Given the description of an element on the screen output the (x, y) to click on. 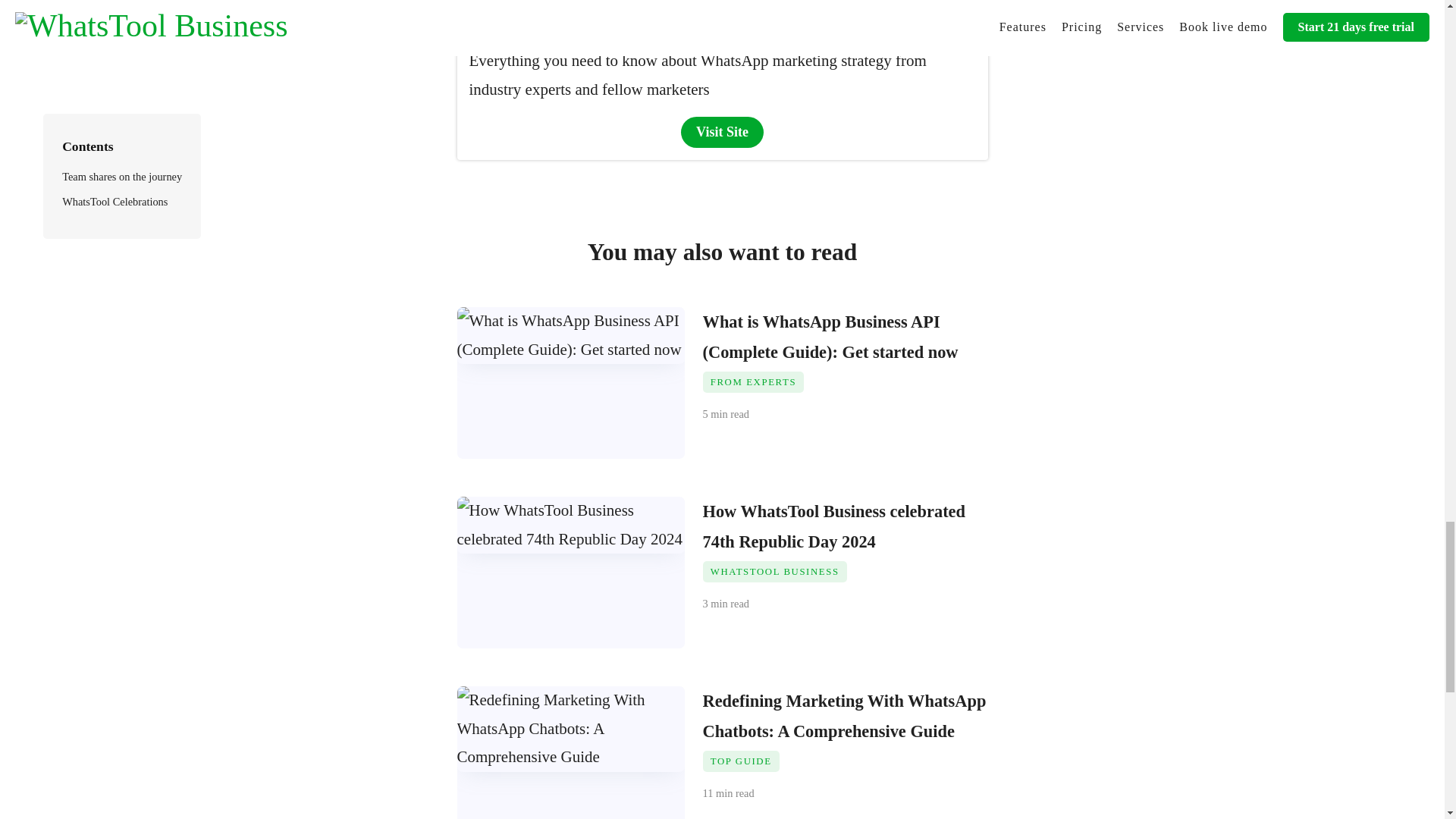
Visit Site (721, 132)
